Given the description of an element on the screen output the (x, y) to click on. 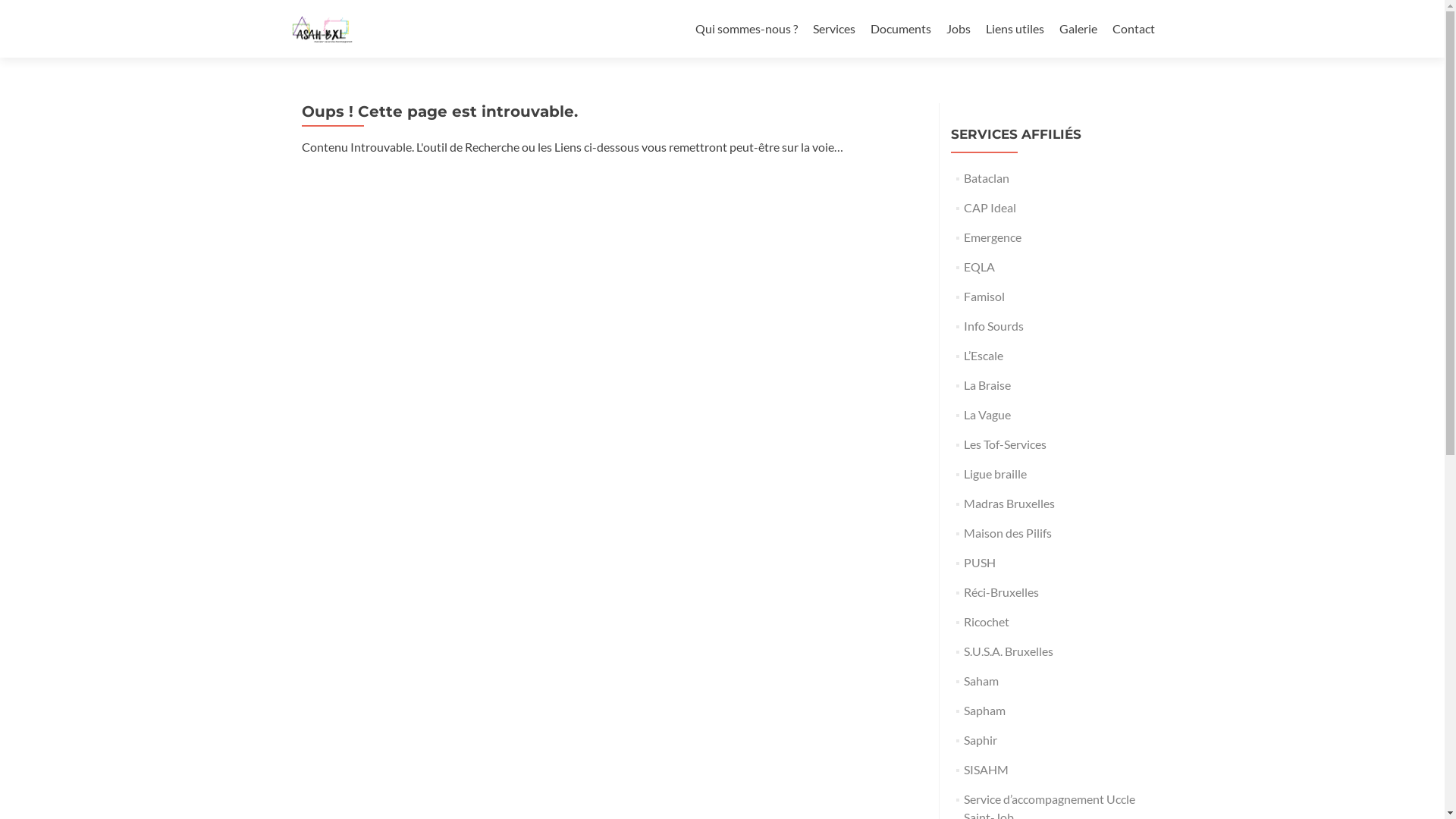
S.U.S.A. Bruxelles Element type: text (1008, 650)
Ricochet Element type: text (986, 621)
Jobs Element type: text (958, 28)
SISAHM Element type: text (985, 769)
EQLA Element type: text (978, 266)
Bataclan Element type: text (986, 177)
Sapham Element type: text (984, 709)
Liens utiles Element type: text (1014, 28)
Documents Element type: text (900, 28)
La Vague Element type: text (986, 414)
Emergence Element type: text (992, 236)
Saham Element type: text (980, 680)
Madras Bruxelles Element type: text (1008, 502)
CAP Ideal Element type: text (989, 207)
Saphir Element type: text (980, 739)
Galerie Element type: text (1077, 28)
La Braise Element type: text (986, 384)
Les Tof-Services Element type: text (1004, 443)
Famisol Element type: text (983, 295)
PUSH Element type: text (979, 562)
Qui sommes-nous ? Element type: text (745, 28)
Contact Element type: text (1132, 28)
Maison des Pilifs Element type: text (1007, 532)
Services Element type: text (833, 28)
Ligue braille Element type: text (994, 473)
Info Sourds Element type: text (993, 325)
